Given the description of an element on the screen output the (x, y) to click on. 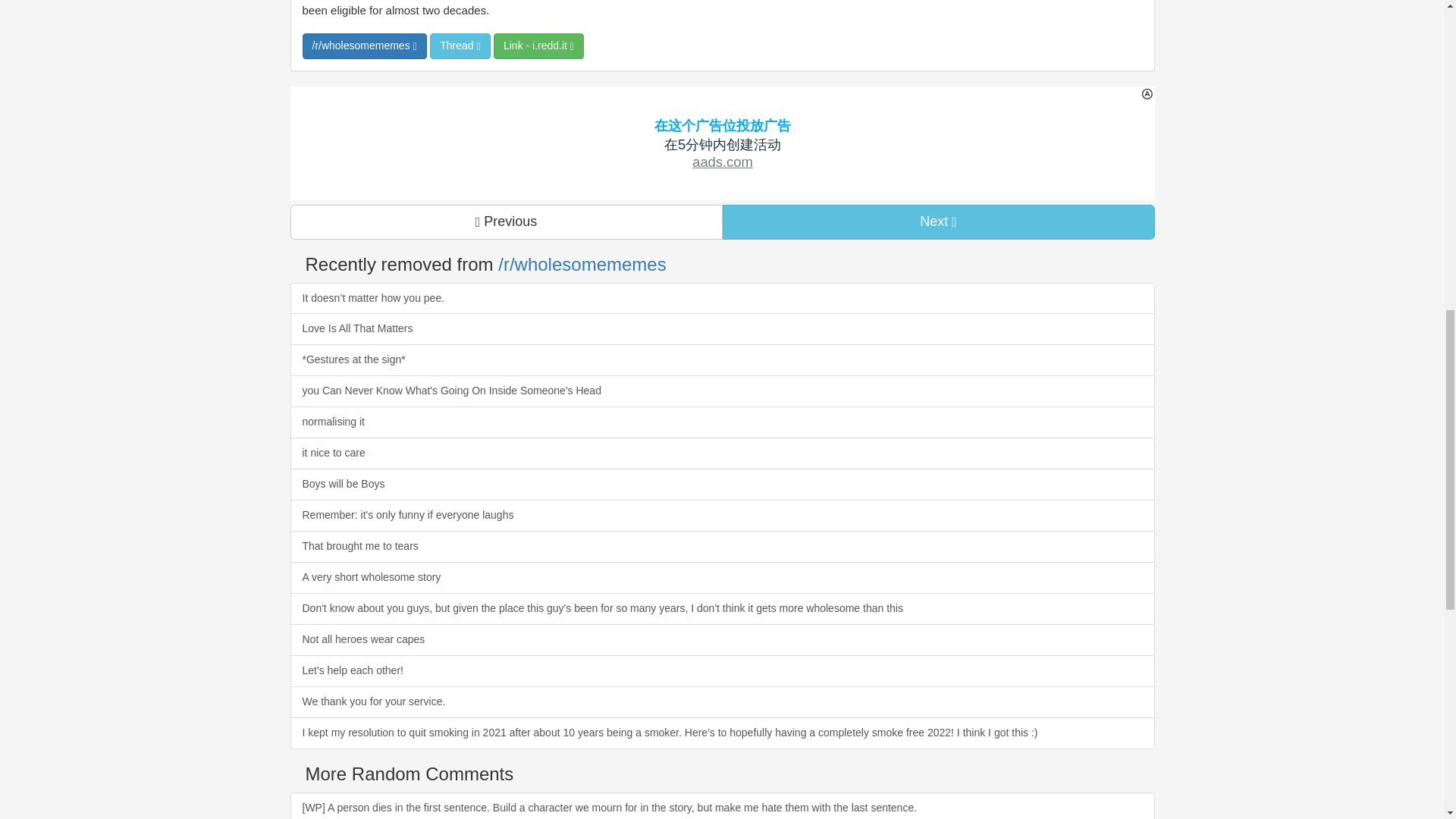
That brought me to tears (721, 546)
Let's help each other! (721, 671)
Love Is All That Matters (721, 328)
it nice to care (721, 453)
Not all heroes wear capes (721, 640)
normalising it (721, 422)
you Can Never Know What's Going On Inside Someone's Head (721, 391)
Thread (459, 45)
We thank you for your service. (721, 702)
